Given the description of an element on the screen output the (x, y) to click on. 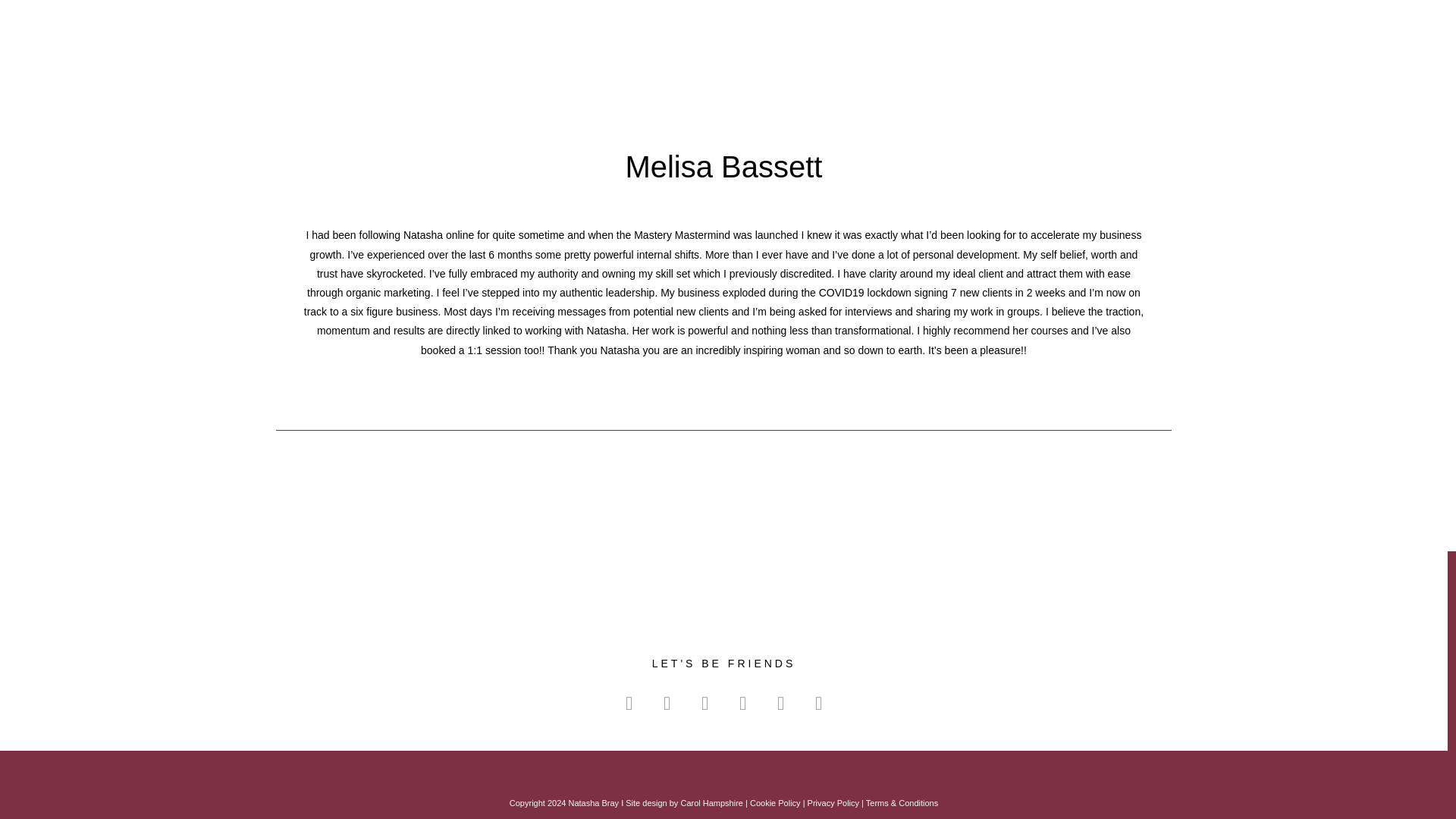
Email Natasha (779, 703)
Find Natasha on Twitter (704, 703)
Find Natasha on Facebook (628, 703)
Find Natasha on YouTube (742, 703)
Find Natasha on Instagram (666, 703)
Find Natasha on LinkedIn (818, 703)
